Given the description of an element on the screen output the (x, y) to click on. 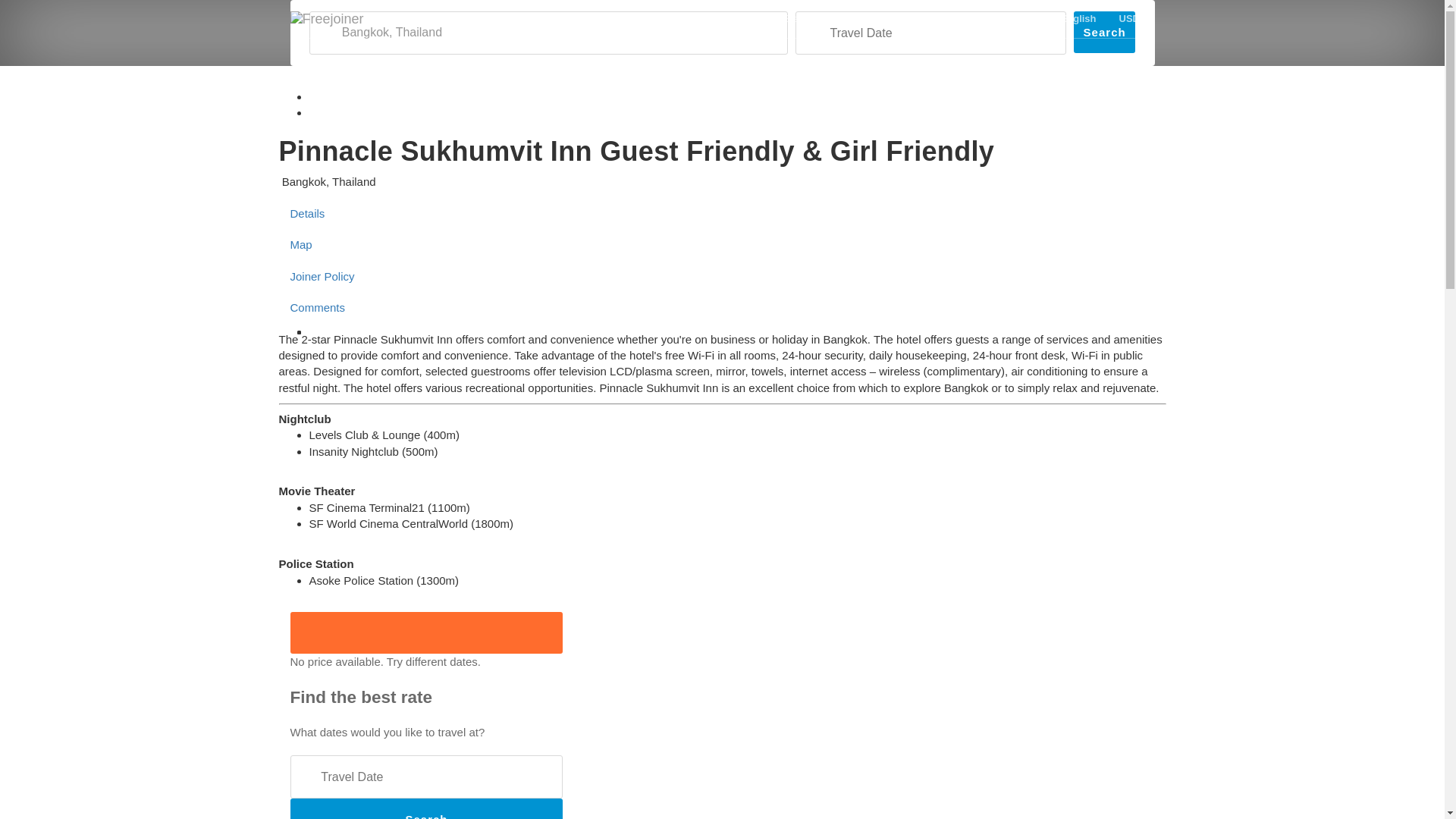
, Philippines (491, 18)
, Indonesia (646, 18)
Thailand (412, 18)
, Vietnam (570, 18)
Blog (852, 18)
English (1078, 18)
, Brazil (798, 18)
Philippines (491, 18)
Cambodia (727, 18)
Flights (904, 18)
, Cambodia (727, 18)
Brazil (798, 18)
, Thailand (412, 18)
Blog (852, 18)
Vietnam (570, 18)
